Given the description of an element on the screen output the (x, y) to click on. 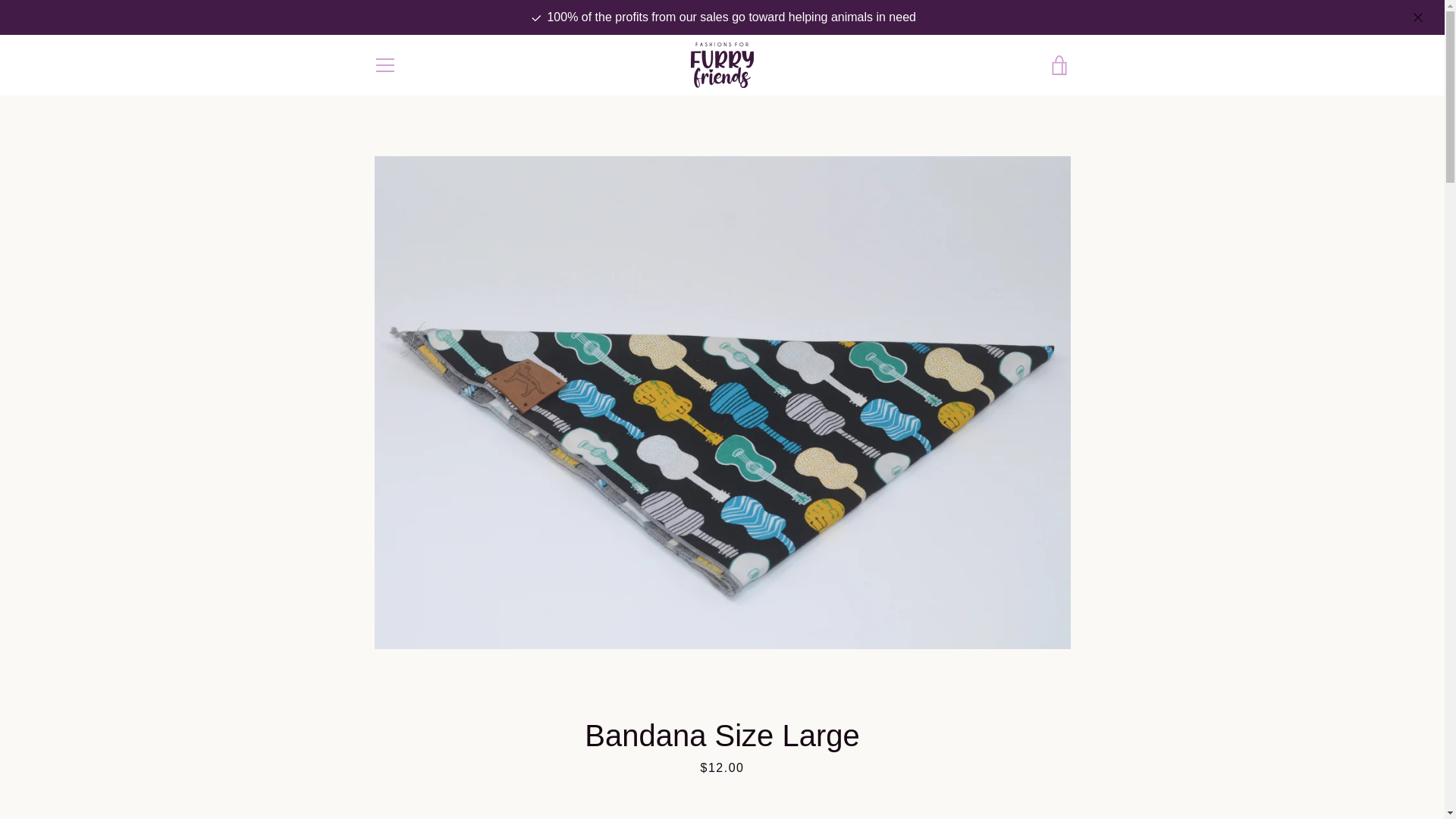
PayPal (953, 778)
Discover (988, 755)
VIEW CART (1059, 64)
MENU (384, 64)
American Express (883, 755)
Apple Pay (918, 755)
Mastercard (918, 778)
Shop Pay (988, 778)
Venmo (1022, 778)
Google Pay (1057, 755)
